Given the description of an element on the screen output the (x, y) to click on. 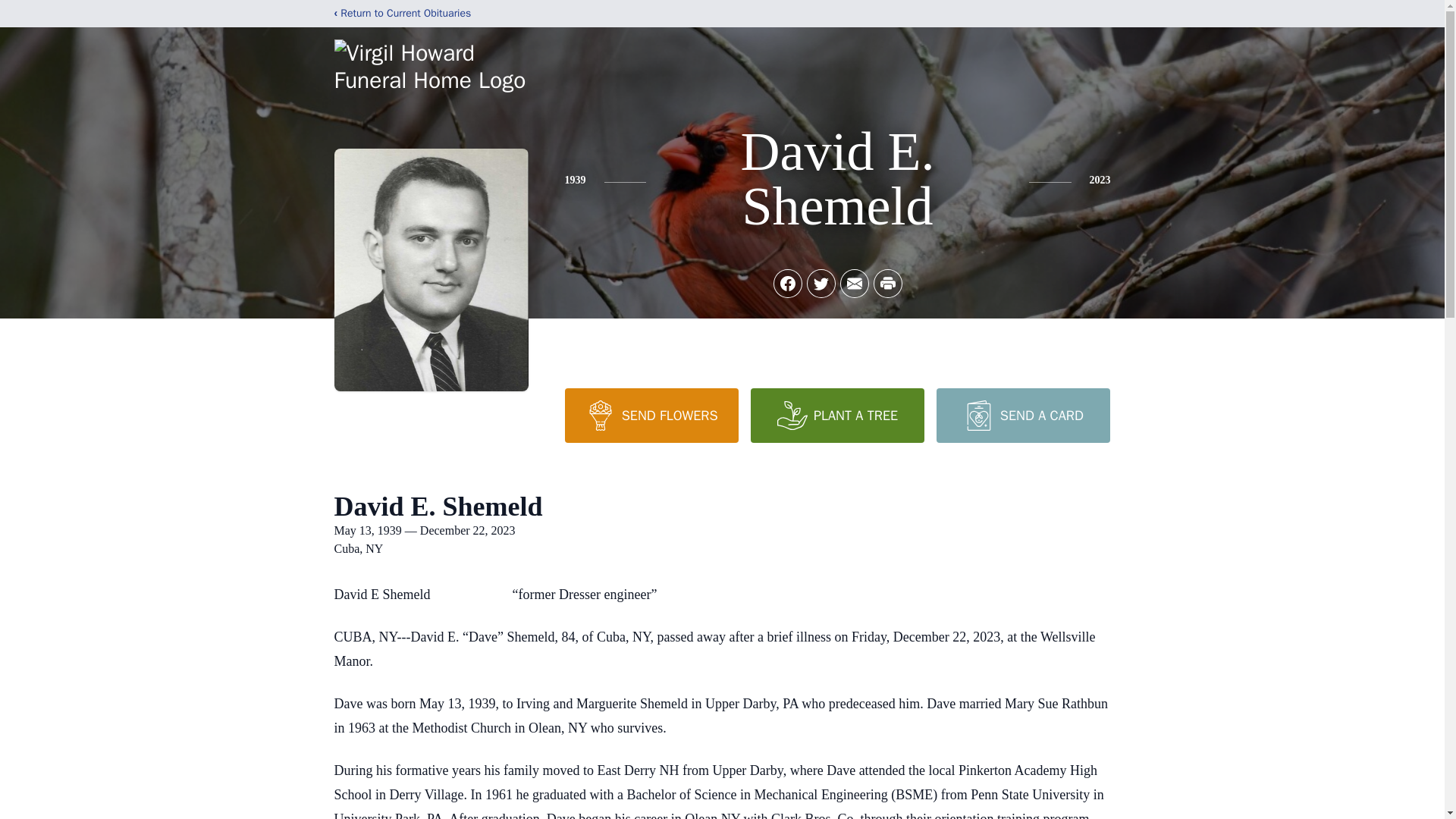
SEND A CARD (1022, 415)
SEND FLOWERS (651, 415)
PLANT A TREE (837, 415)
